Given the description of an element on the screen output the (x, y) to click on. 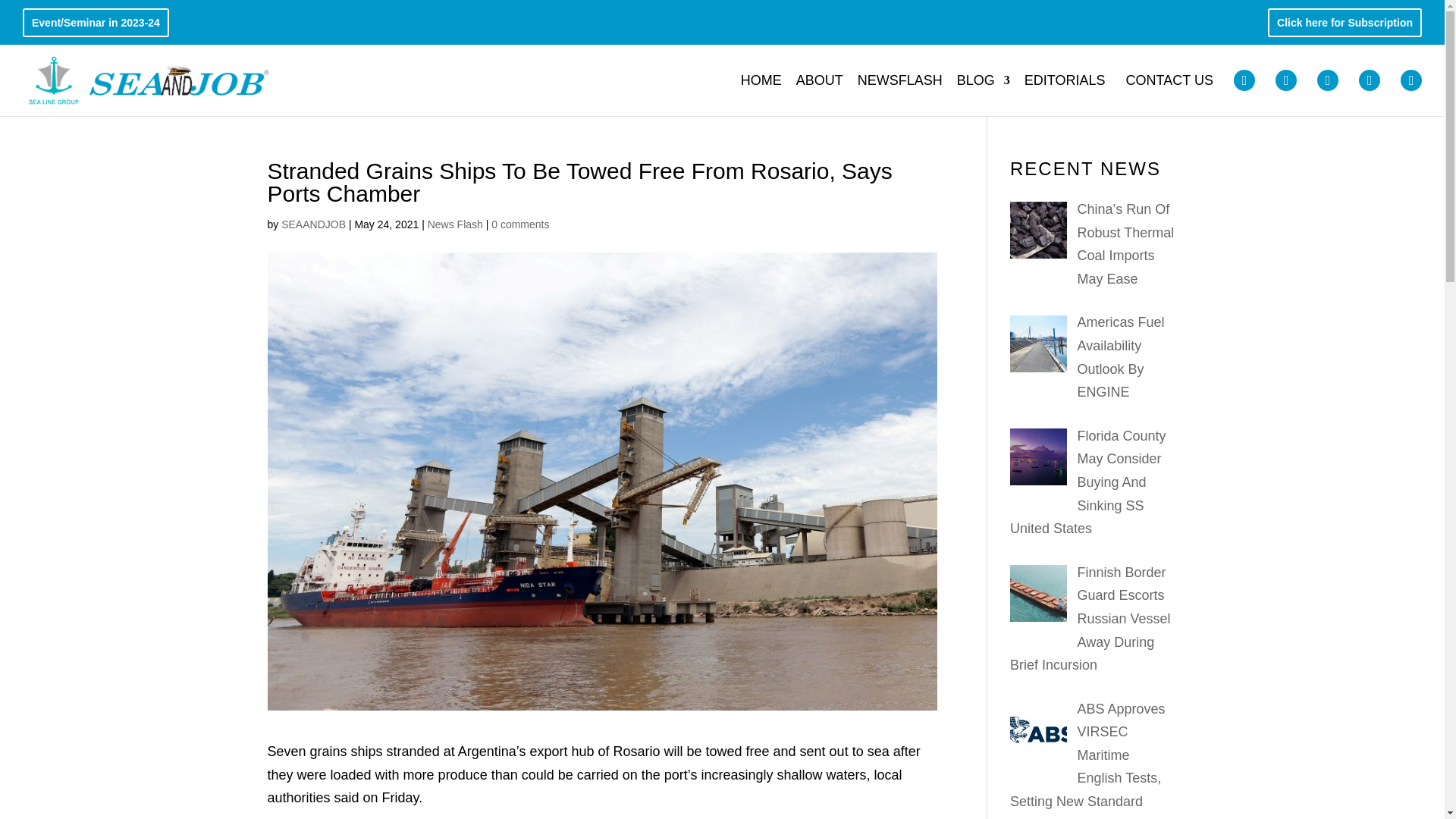
Click here for Subscription (1344, 26)
EDITORIALS (1065, 92)
HOME (761, 92)
SEAANDJOB (313, 224)
Posts by SEAANDJOB (313, 224)
0 comments (520, 224)
News Flash (455, 224)
Americas Fuel Availability Outlook By ENGINE (1120, 356)
CONTACT US (1168, 92)
NEWSFLASH (899, 92)
ABOUT (819, 92)
BLOG (983, 92)
